Given the description of an element on the screen output the (x, y) to click on. 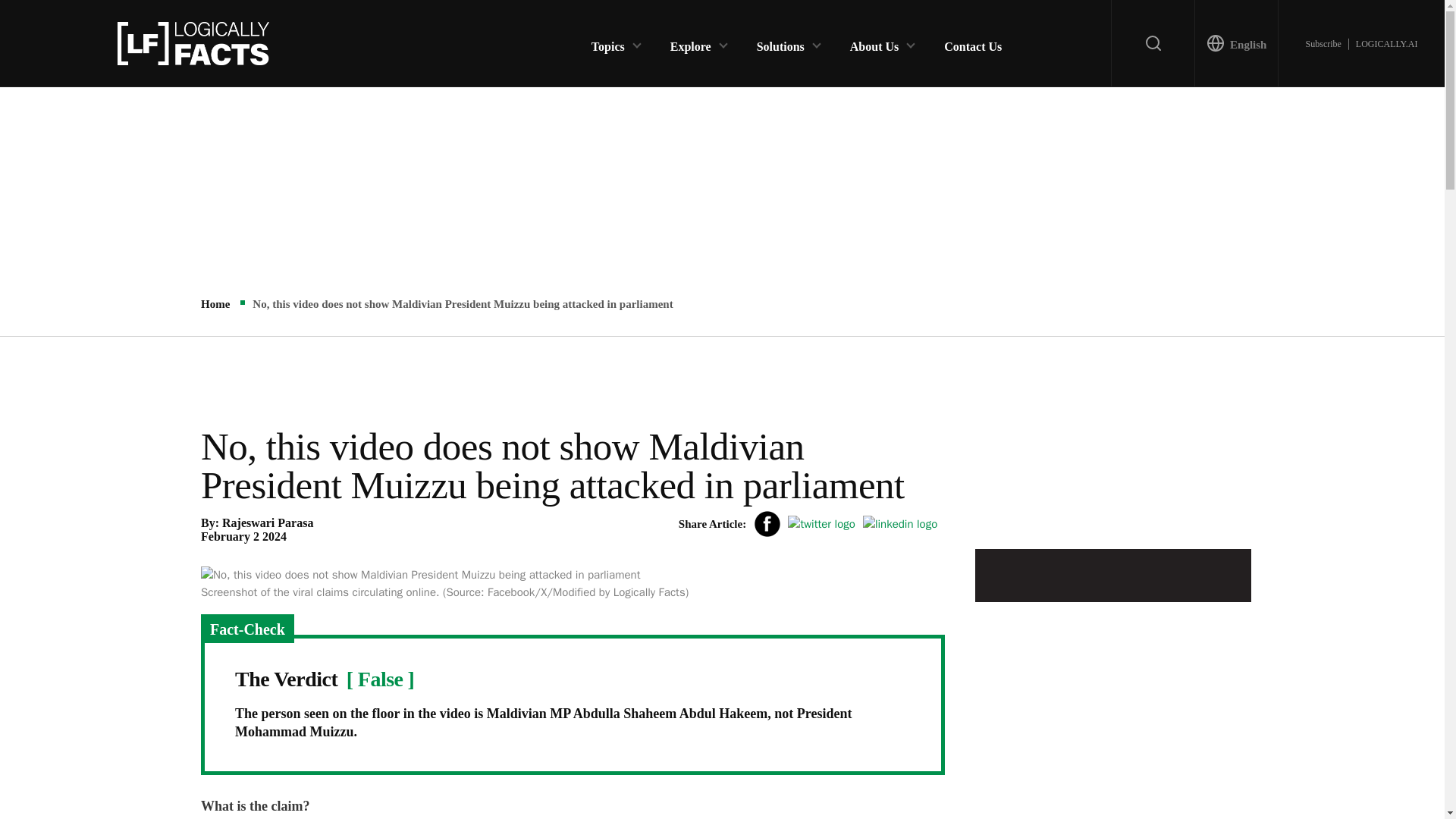
Explore (690, 43)
Subscribe (1323, 43)
Contact Us (972, 43)
Home (215, 304)
Topics (607, 43)
LOGICALLY.AI (1386, 43)
Solutions (781, 43)
About Us (874, 43)
